Given the description of an element on the screen output the (x, y) to click on. 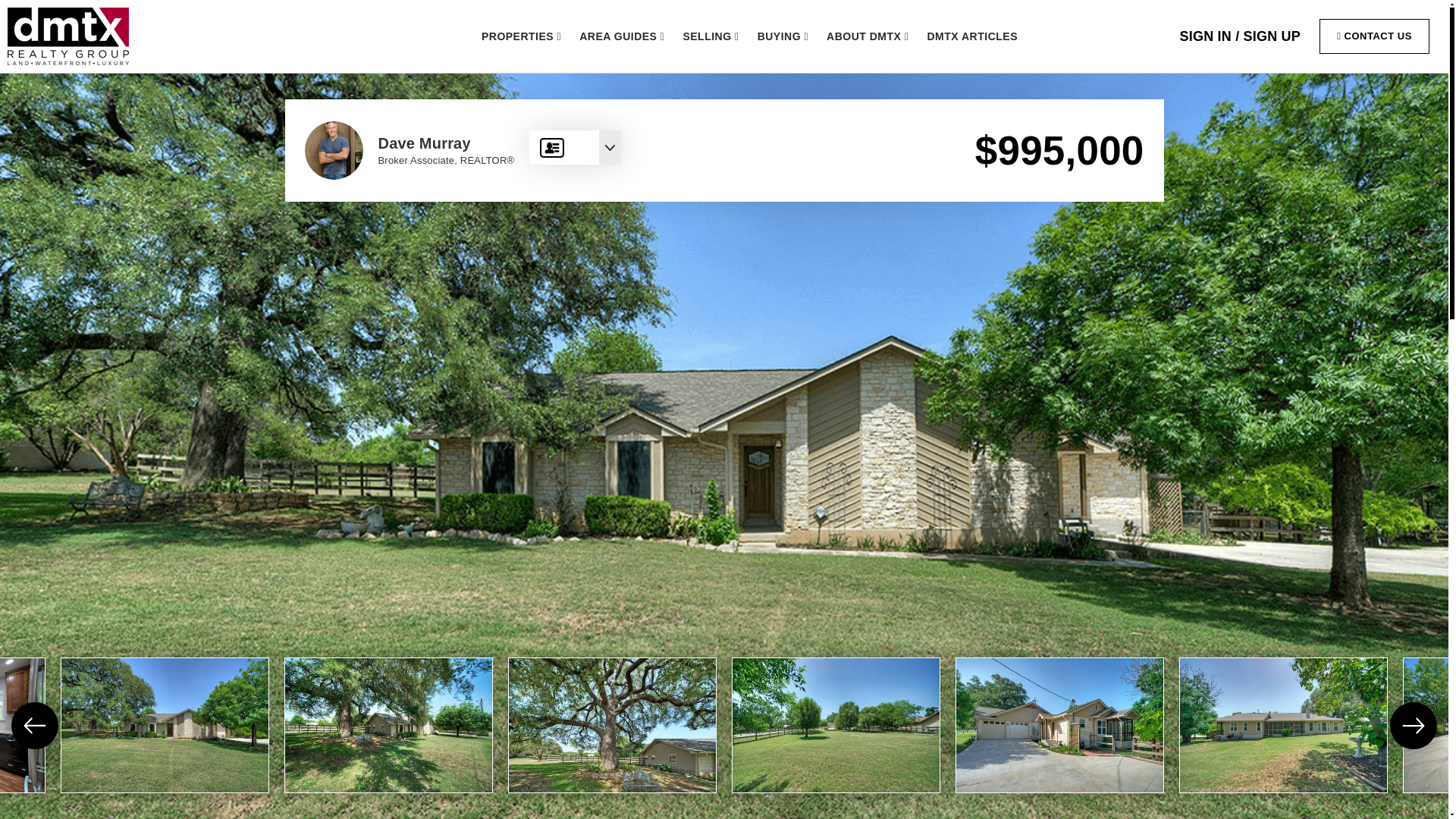
Area Guides (621, 36)
PROPERTIES (520, 36)
AREA GUIDES (621, 36)
